Given the description of an element on the screen output the (x, y) to click on. 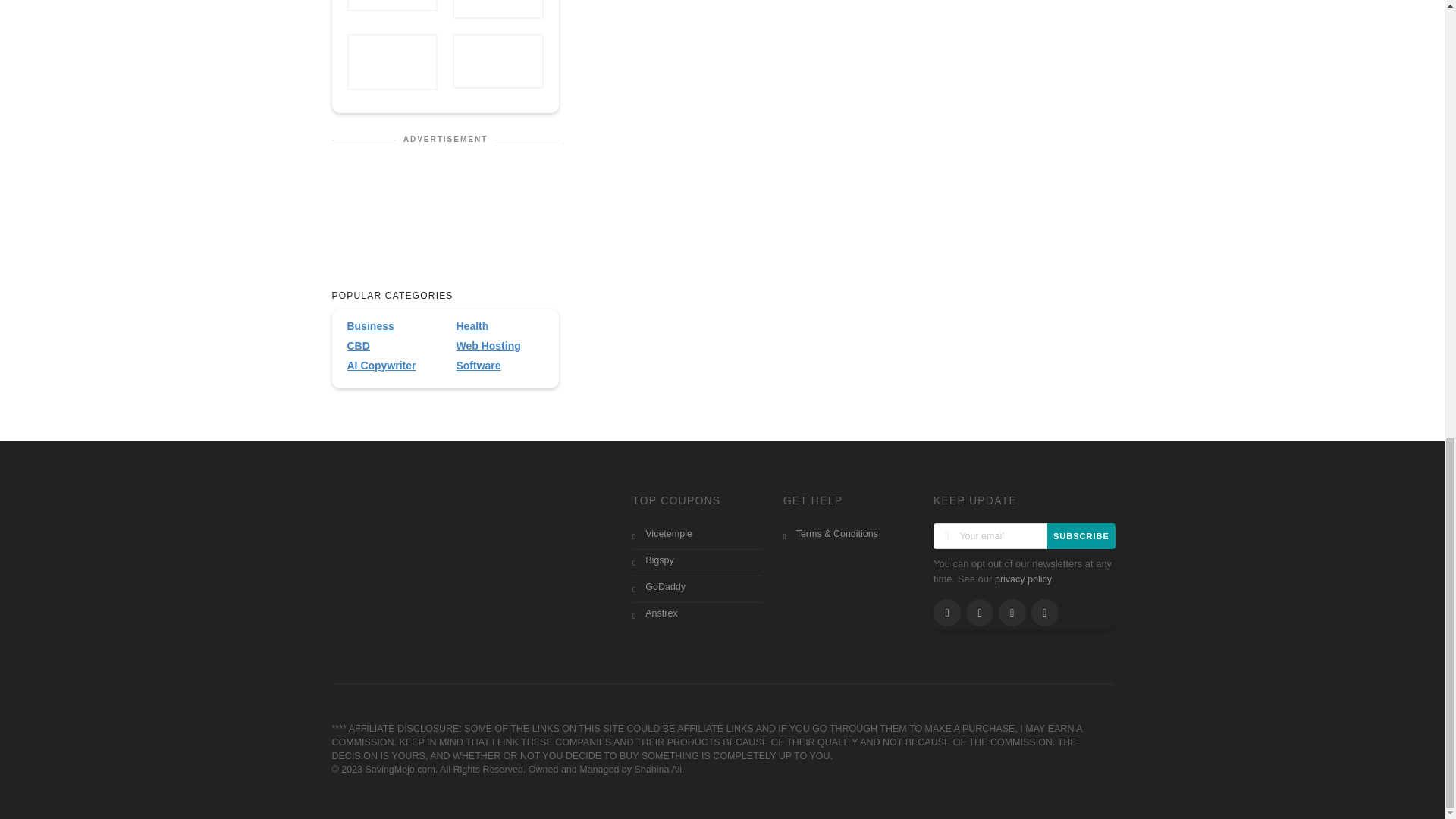
Health (499, 326)
CBD (391, 346)
DHgate Coupons (497, 62)
Bluehost Coupons (392, 2)
HostGator Coupons (392, 61)
Goli Coupon (497, 6)
Business (391, 326)
